Given the description of an element on the screen output the (x, y) to click on. 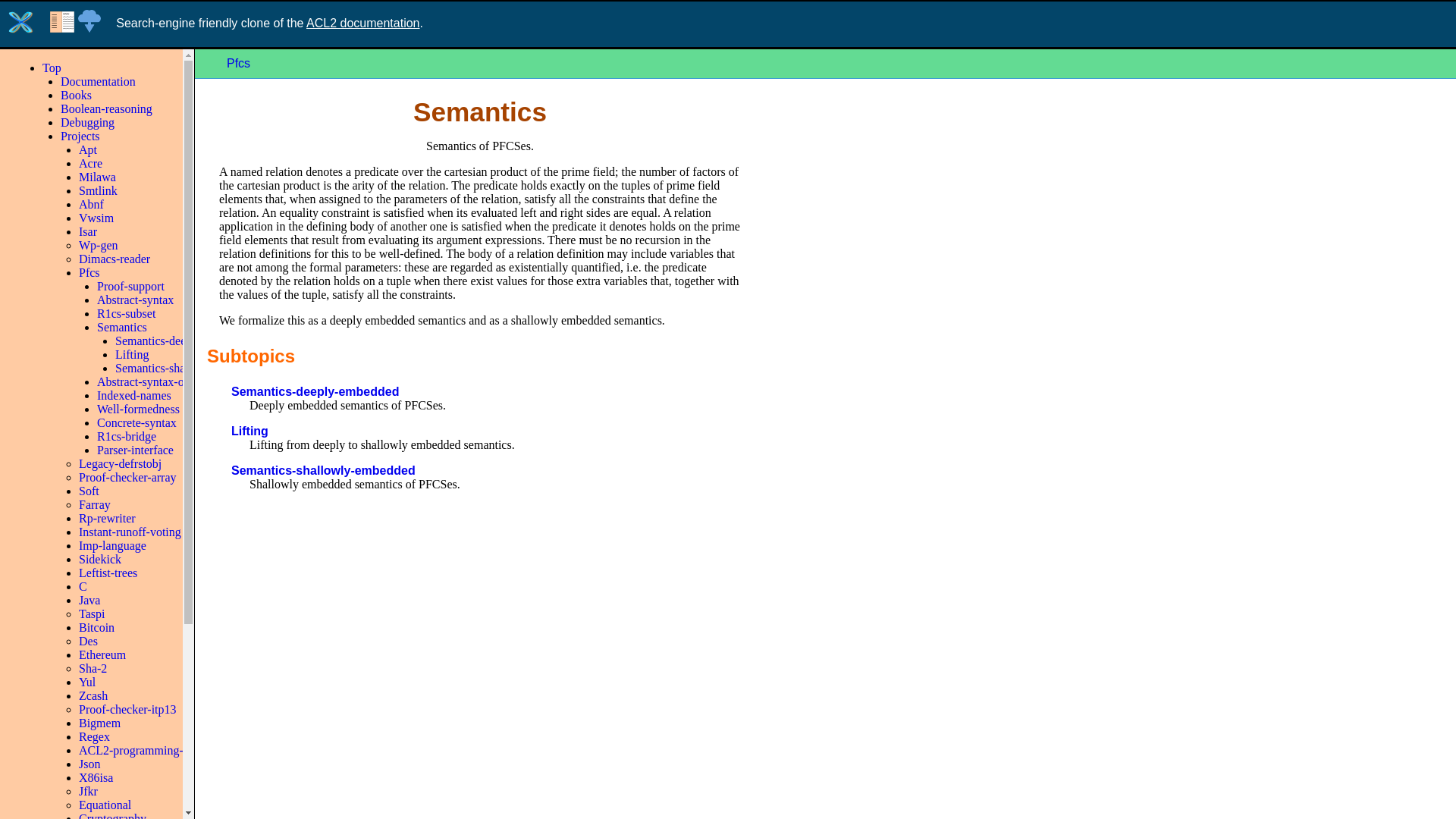
ACL2 documentation (362, 22)
